Given the description of an element on the screen output the (x, y) to click on. 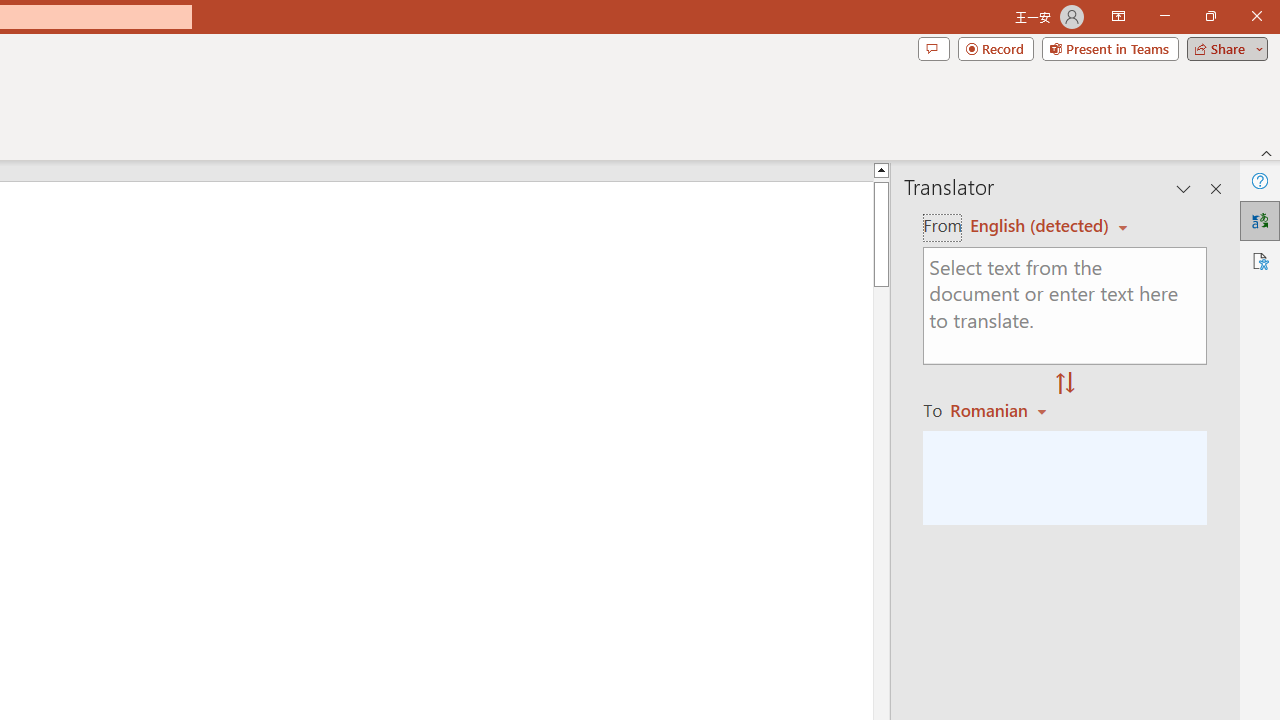
Czech (detected) (1039, 225)
